Given the description of an element on the screen output the (x, y) to click on. 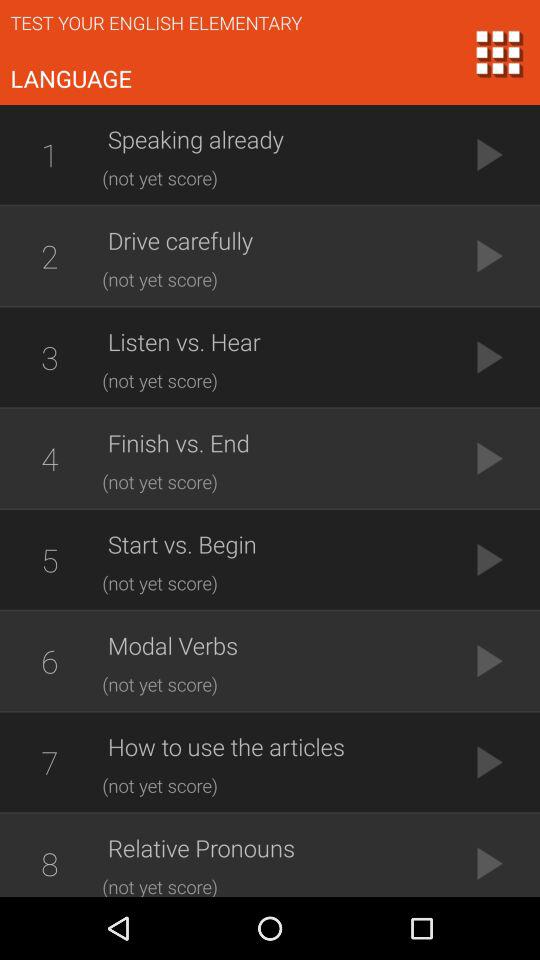
open menu (497, 52)
